Given the description of an element on the screen output the (x, y) to click on. 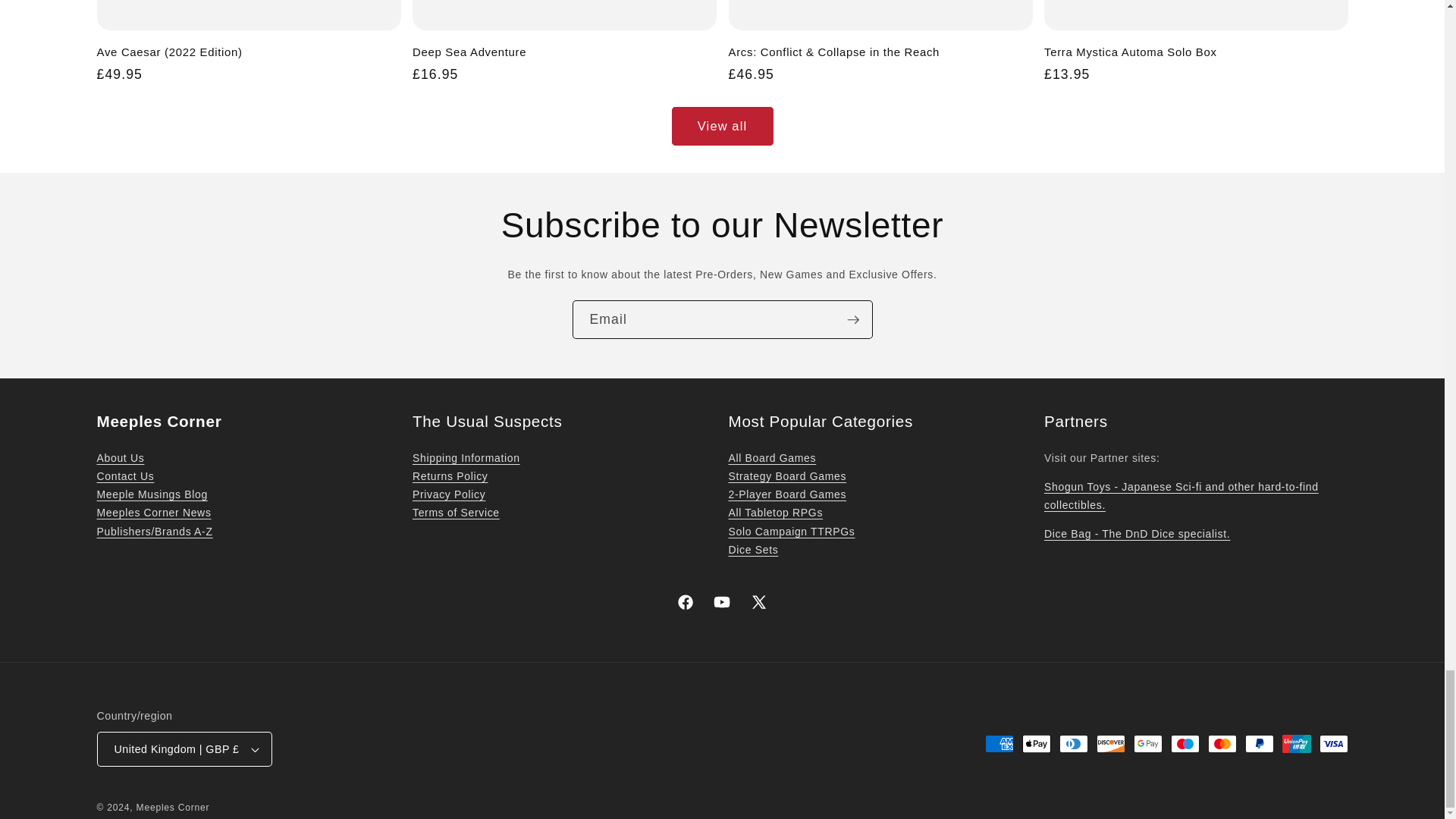
Shop News (154, 512)
Contact (125, 476)
Refund Policy (449, 476)
Shipping Policy (465, 458)
About Us (120, 458)
A-Z of Game Publishers and Gaming Brands (154, 531)
Meeple Musings (152, 494)
